Given the description of an element on the screen output the (x, y) to click on. 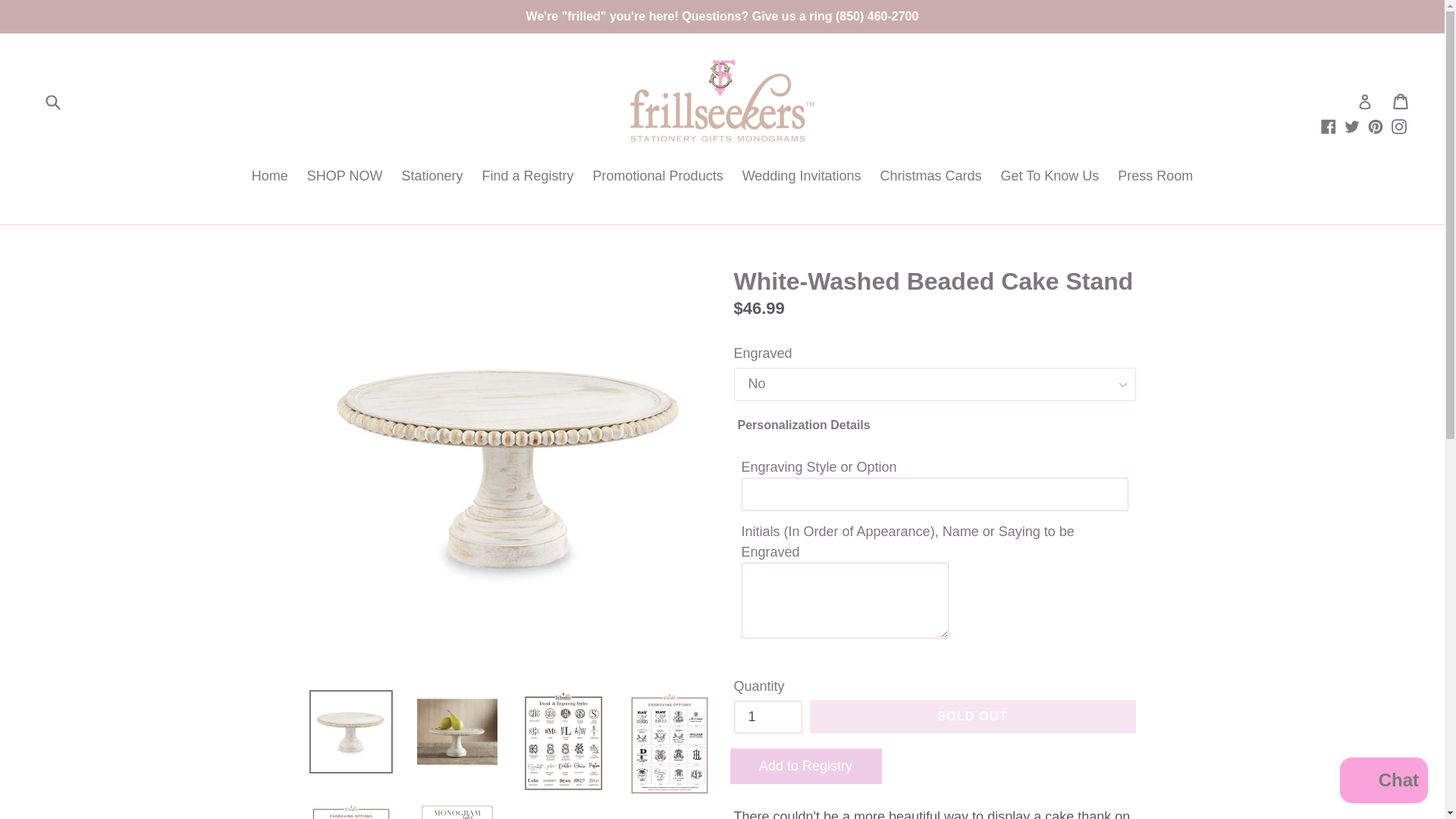
SHOP NOW (344, 177)
Press Room (1154, 177)
Frill Seekers Gifts on Instagram (1399, 125)
Find a Registry (527, 177)
Frill Seekers Gifts on Facebook (1328, 125)
Promotional Products (657, 177)
1 (767, 717)
Pinterest (1375, 125)
Facebook (1328, 125)
Frill Seekers Gifts on Twitter (1351, 125)
